Given the description of an element on the screen output the (x, y) to click on. 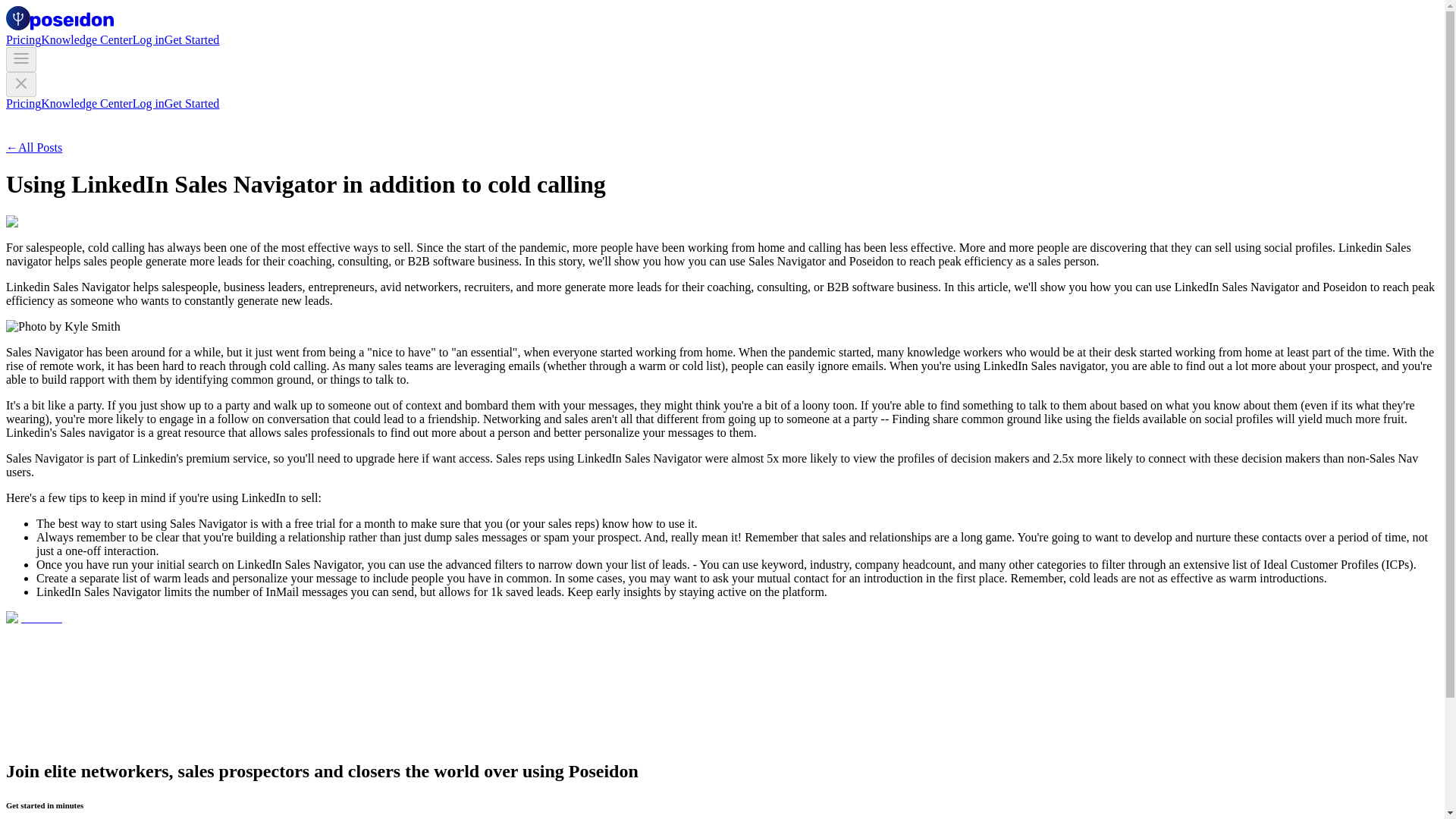
Get Started (191, 39)
Knowledge Center (86, 39)
Log in (148, 103)
Pricing (22, 39)
Log in (148, 39)
Knowledge Center (86, 103)
Pricing (22, 103)
Get Started (191, 103)
